Given the description of an element on the screen output the (x, y) to click on. 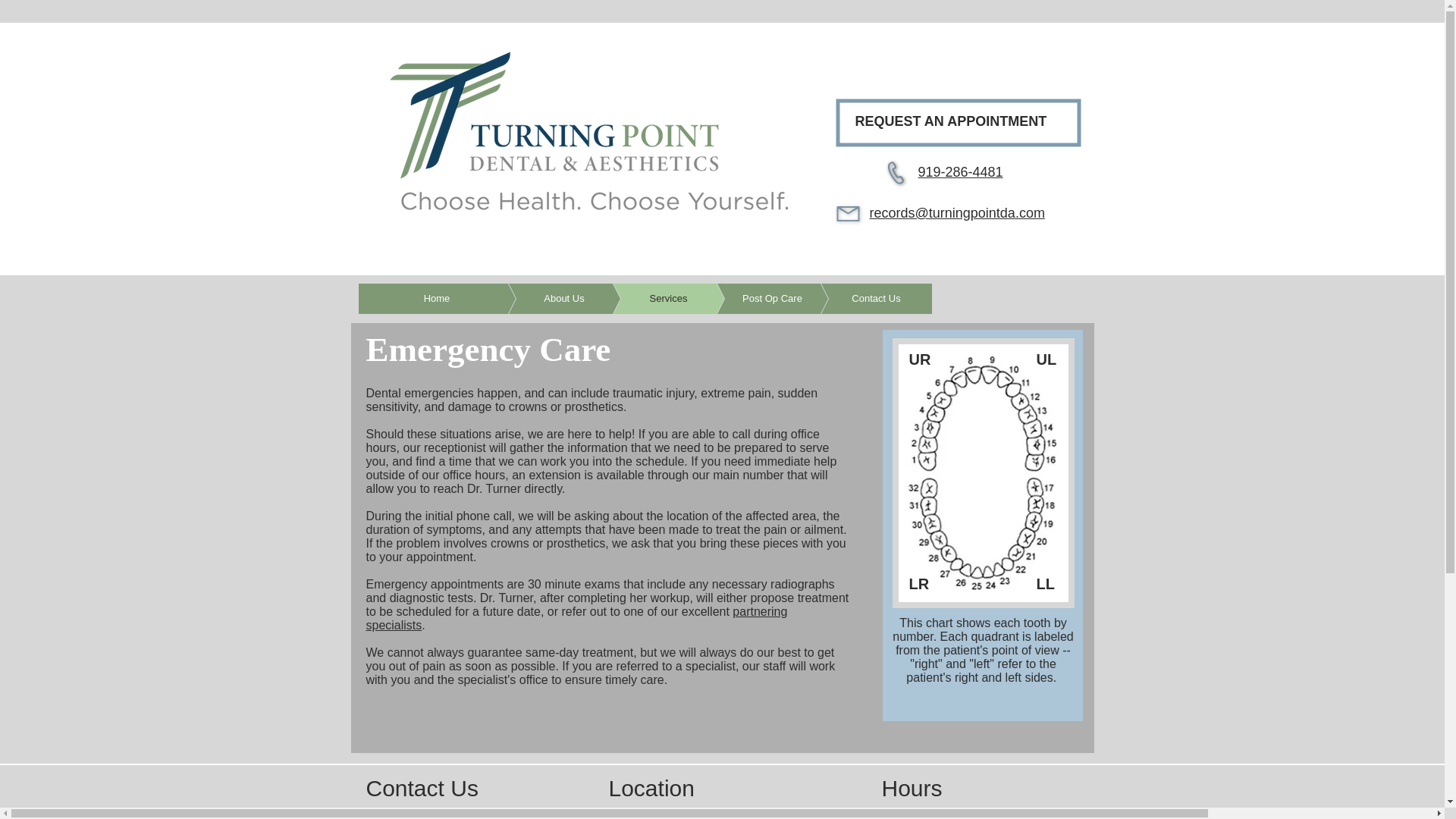
Contact Us (852, 298)
partnering specialists (576, 618)
About Us (541, 298)
919-286-4481 (960, 171)
Services (645, 298)
Post Op Care (749, 298)
Home (436, 298)
REQUEST AN APPOINTMENT (951, 120)
